Given the description of an element on the screen output the (x, y) to click on. 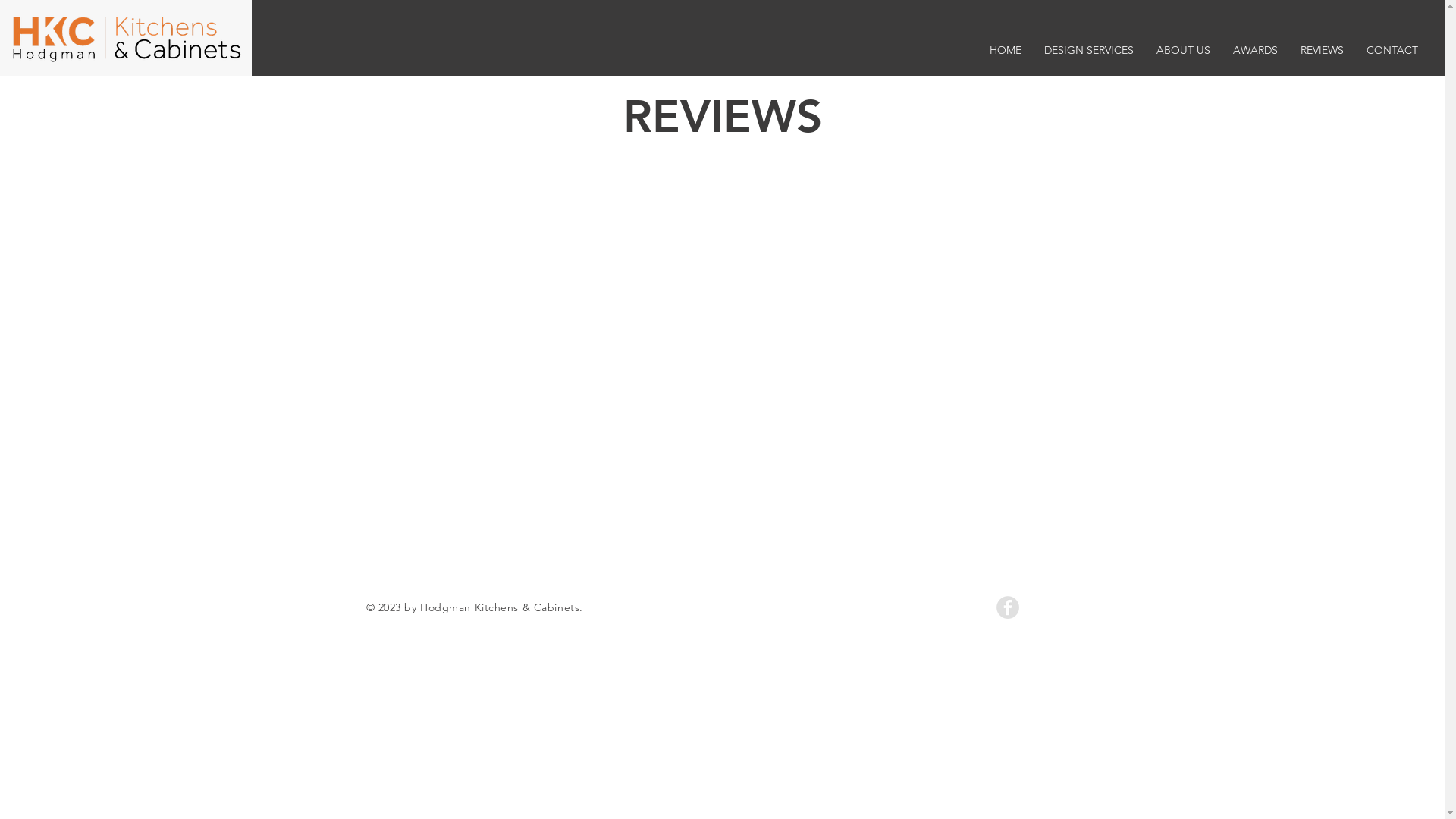
ABOUT US Element type: text (1183, 50)
CONTACT Element type: text (1392, 50)
DESIGN SERVICES Element type: text (1088, 50)
AWARDS Element type: text (1255, 50)
REVIEWS Element type: text (1322, 50)
HOME Element type: text (1004, 50)
